Given the description of an element on the screen output the (x, y) to click on. 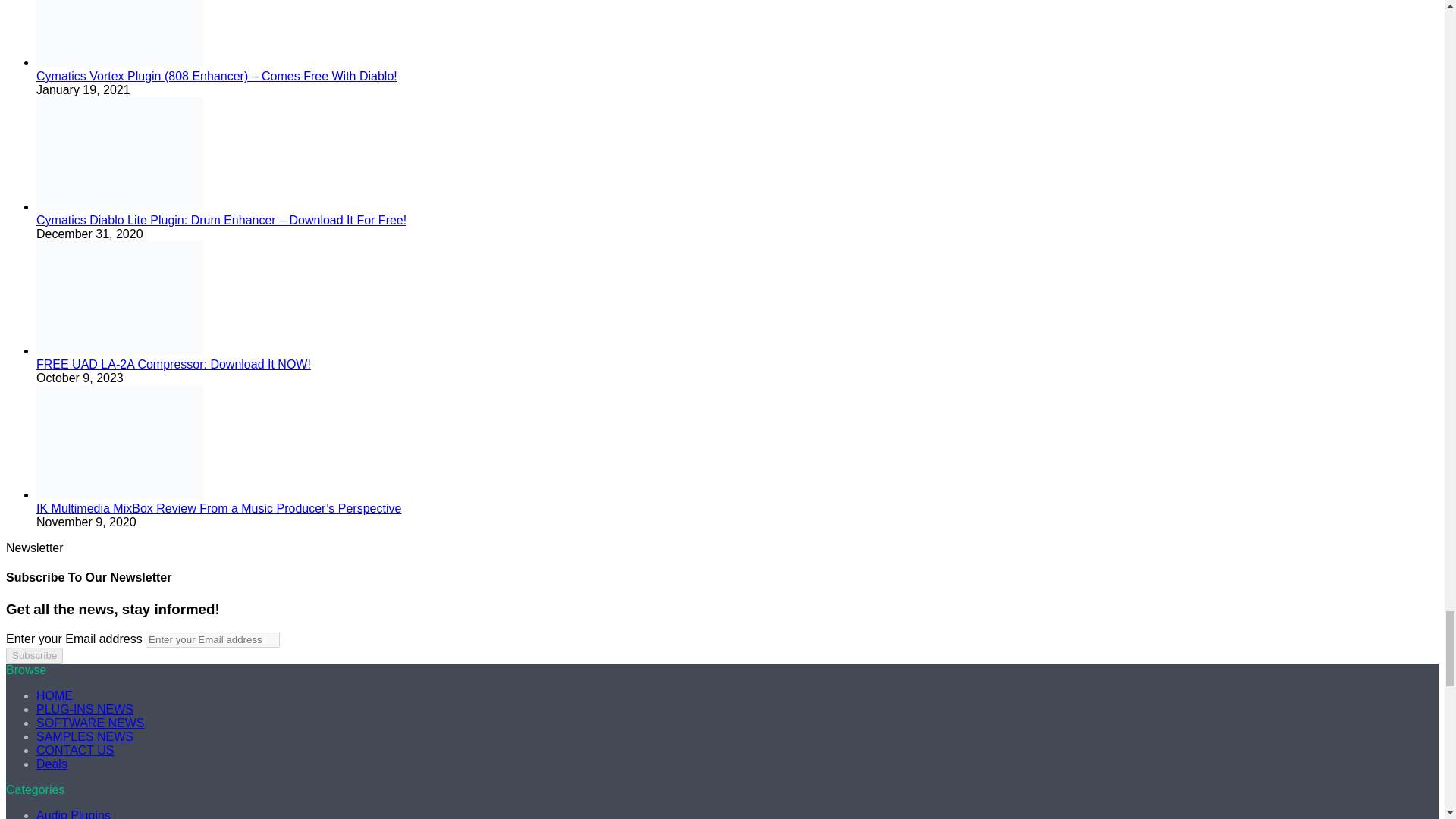
Subscribe (33, 655)
